Given the description of an element on the screen output the (x, y) to click on. 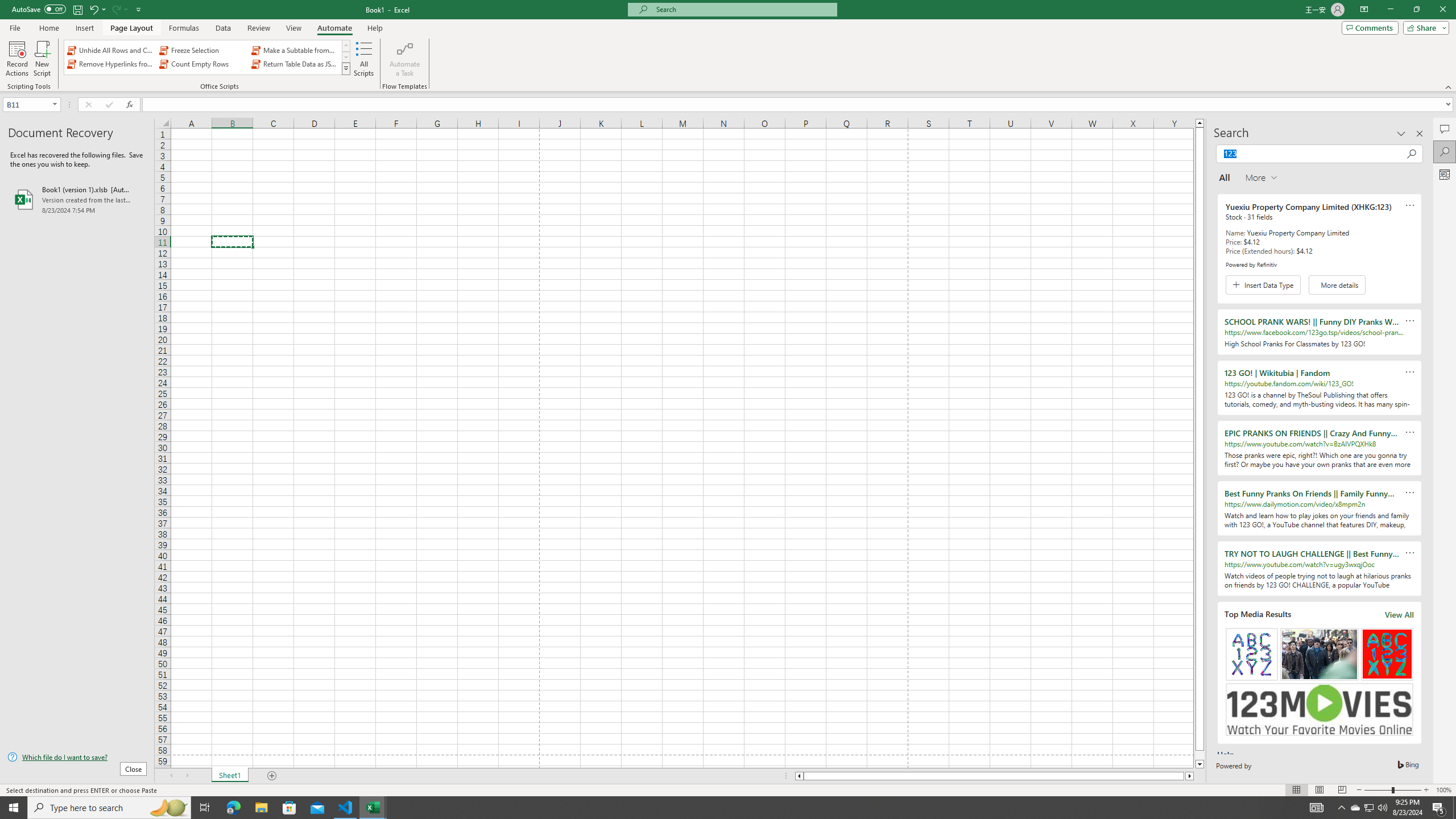
All Scripts (363, 58)
AutomationID: OfficeScriptsGallery (207, 57)
Count Empty Rows (202, 64)
Make a Subtable from a Selection (294, 50)
